Given the description of an element on the screen output the (x, y) to click on. 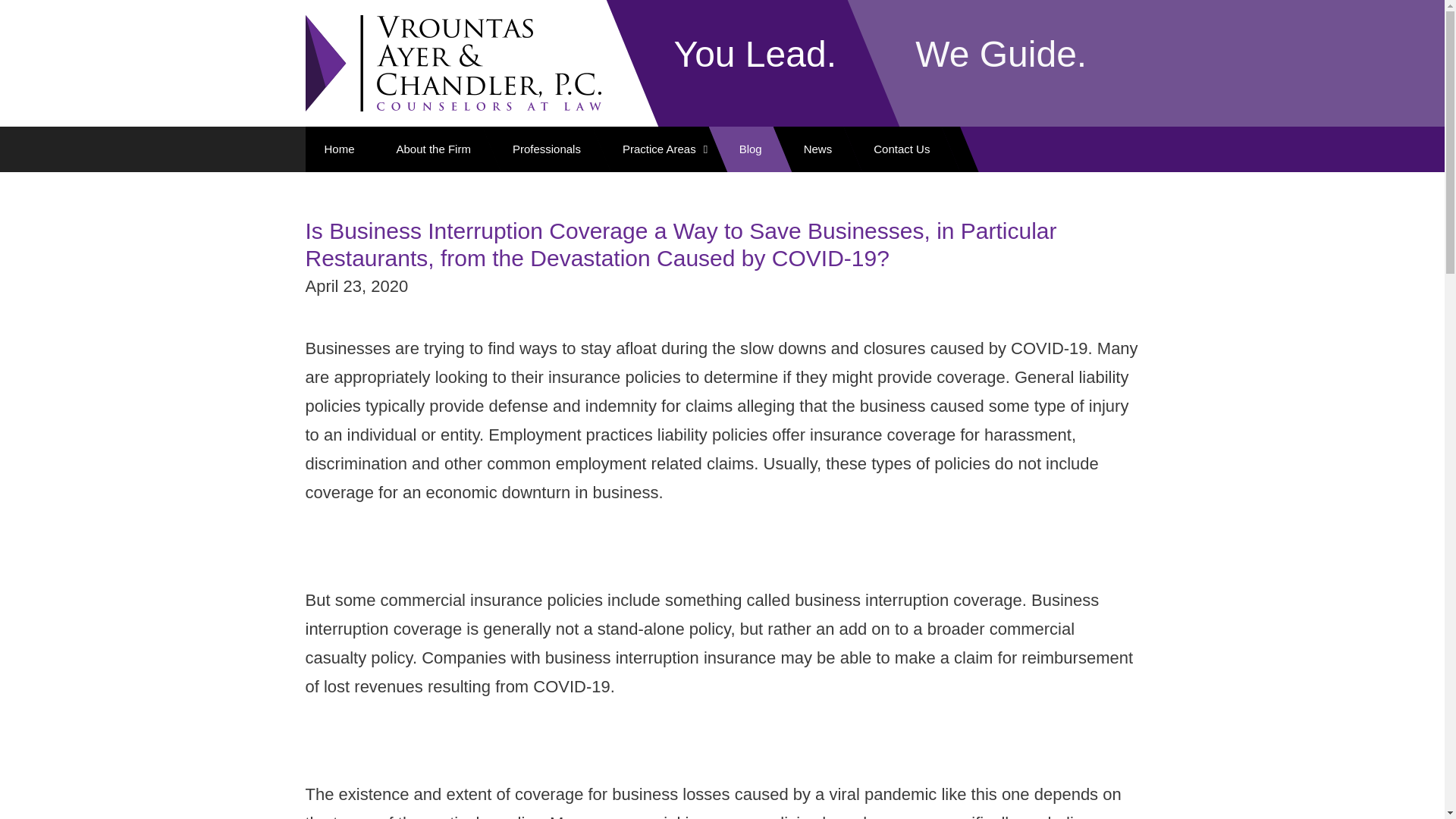
Professionals (546, 148)
News (818, 148)
Practice Areas (660, 148)
Home (344, 148)
Blog (750, 148)
About the Firm (433, 148)
Contact Us (901, 148)
